Given the description of an element on the screen output the (x, y) to click on. 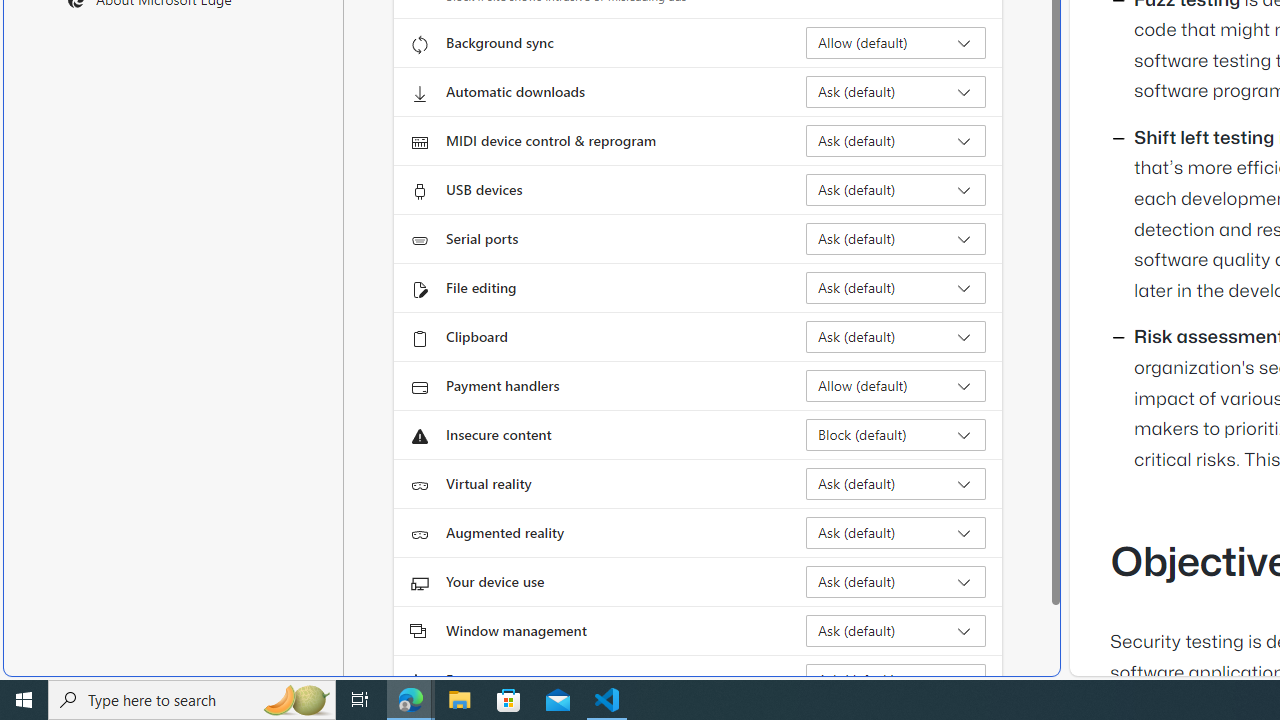
File editing Ask (default) (895, 287)
Fonts Ask (default) (895, 679)
Insecure content Block (default) (895, 434)
Window management Ask (default) (895, 630)
Automatic downloads Ask (default) (895, 92)
MIDI device control & reprogram Ask (default) (895, 140)
Payment handlers Allow (default) (895, 385)
Clipboard Ask (default) (895, 336)
Background sync Allow (default) (895, 43)
Augmented reality Ask (default) (895, 532)
Your device use Ask (default) (895, 581)
USB devices Ask (default) (895, 189)
Virtual reality Ask (default) (895, 483)
Serial ports Ask (default) (895, 238)
